Given the description of an element on the screen output the (x, y) to click on. 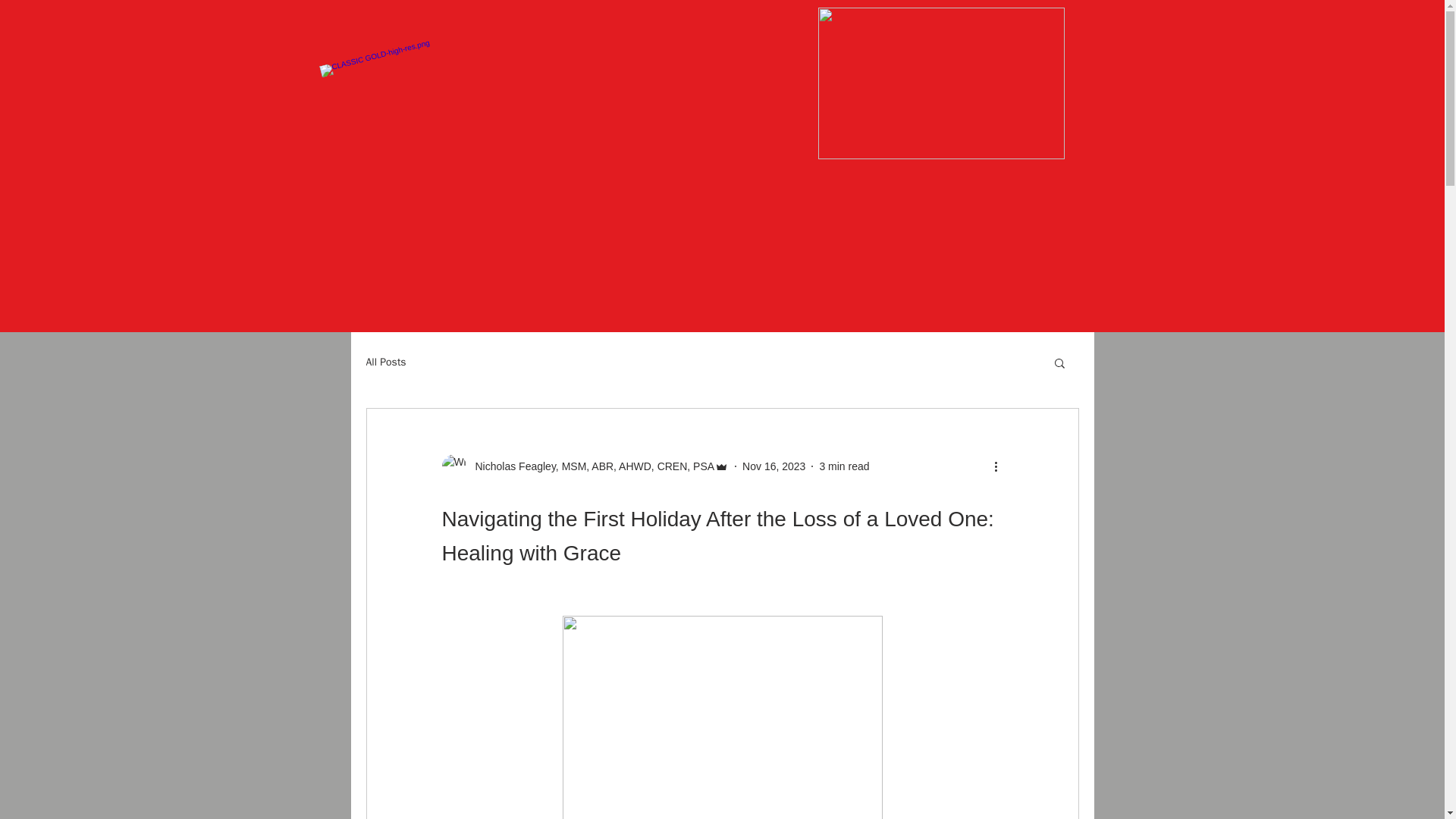
3 min read (843, 466)
Nov 16, 2023 (773, 466)
Nicholas Feagley, MSM, ABR, AHWD, CREN, PSA (585, 466)
Untitled design.png (940, 82)
All Posts (385, 362)
Nicholas Feagley, MSM, ABR, AHWD, CREN, PSA (589, 466)
